Given the description of an element on the screen output the (x, y) to click on. 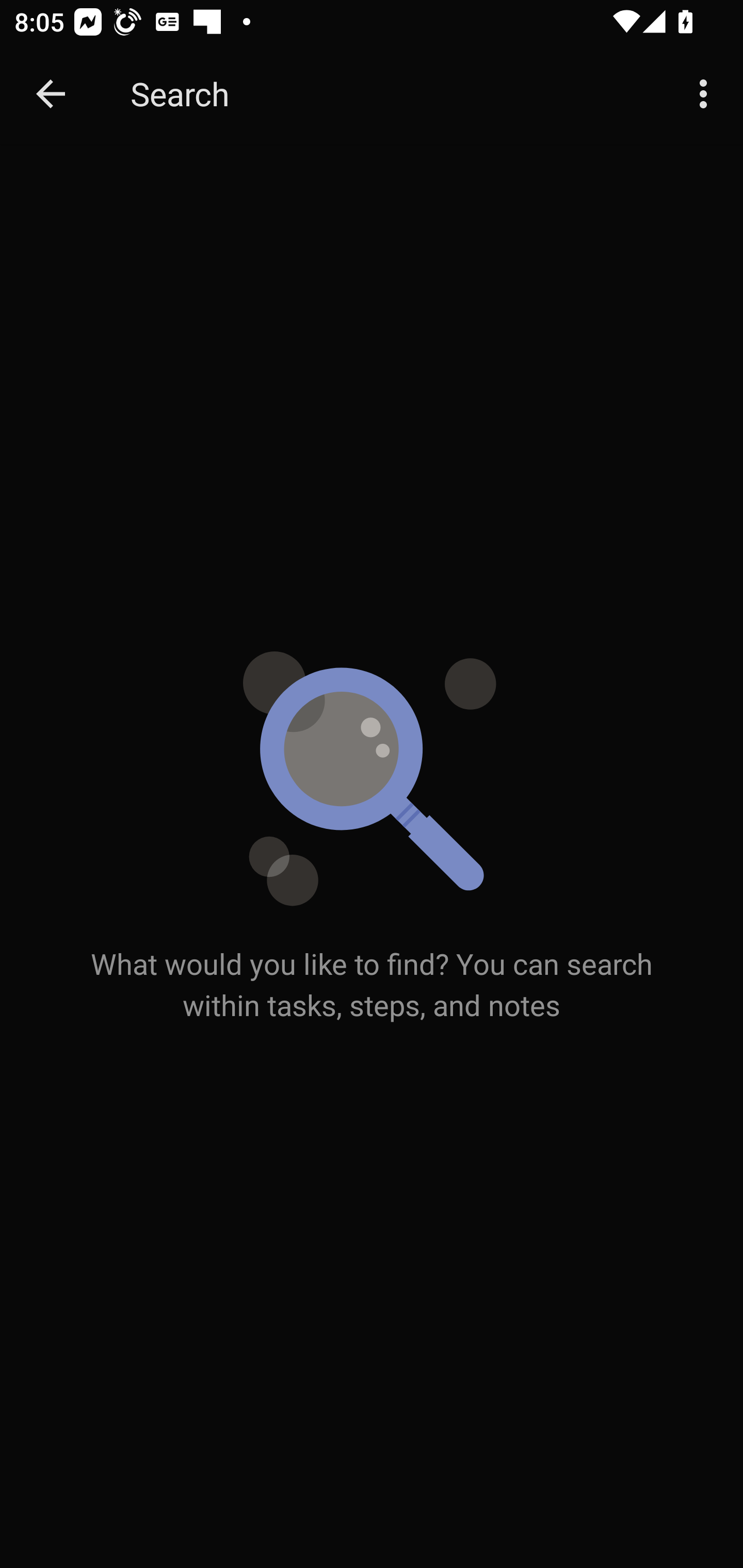
Navigate up (50, 93)
More options (706, 93)
Search (393, 94)
